Given the description of an element on the screen output the (x, y) to click on. 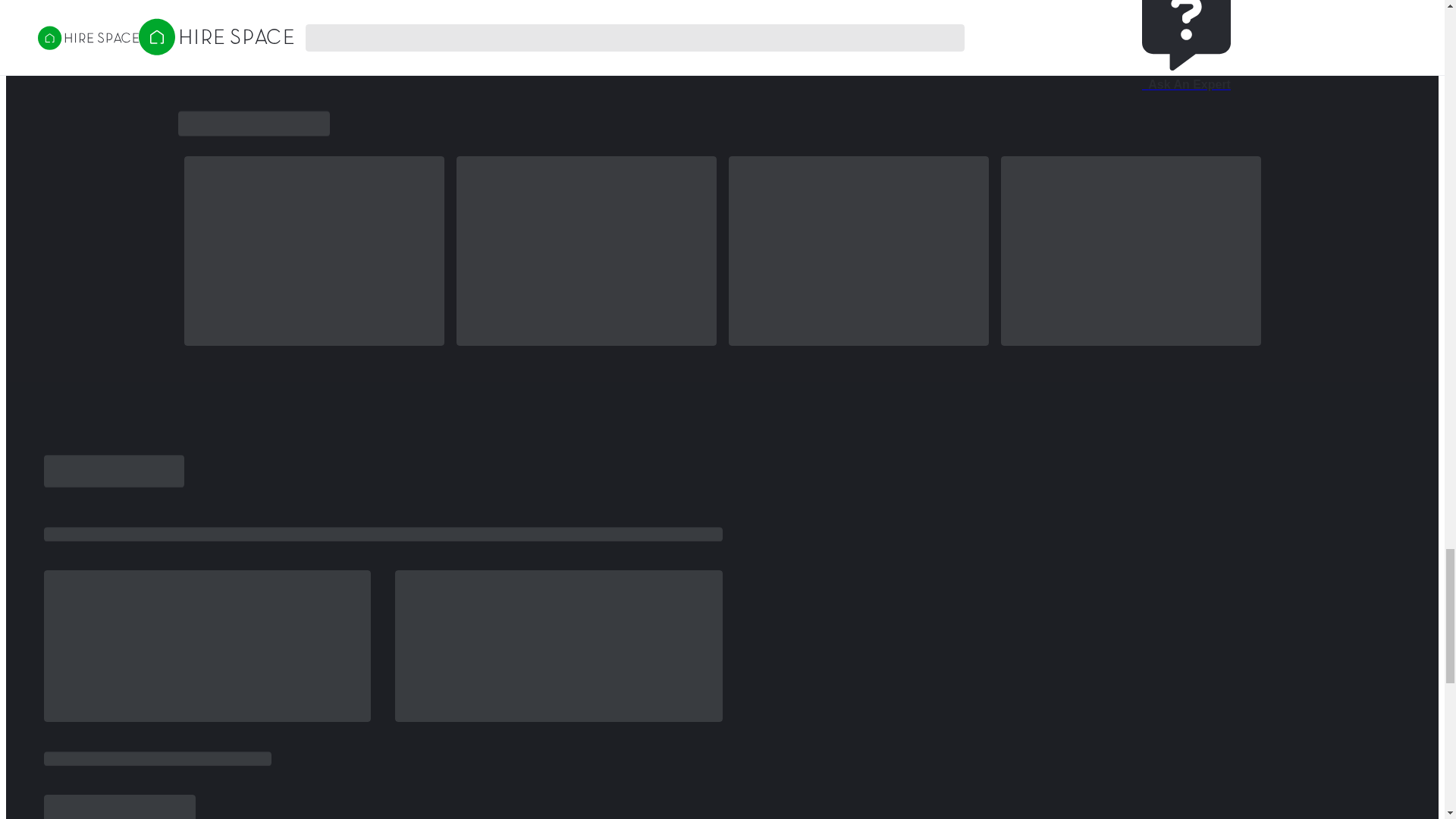
Home (245, 29)
Home (195, 29)
Spaces (297, 29)
London (355, 29)
